Given the description of an element on the screen output the (x, y) to click on. 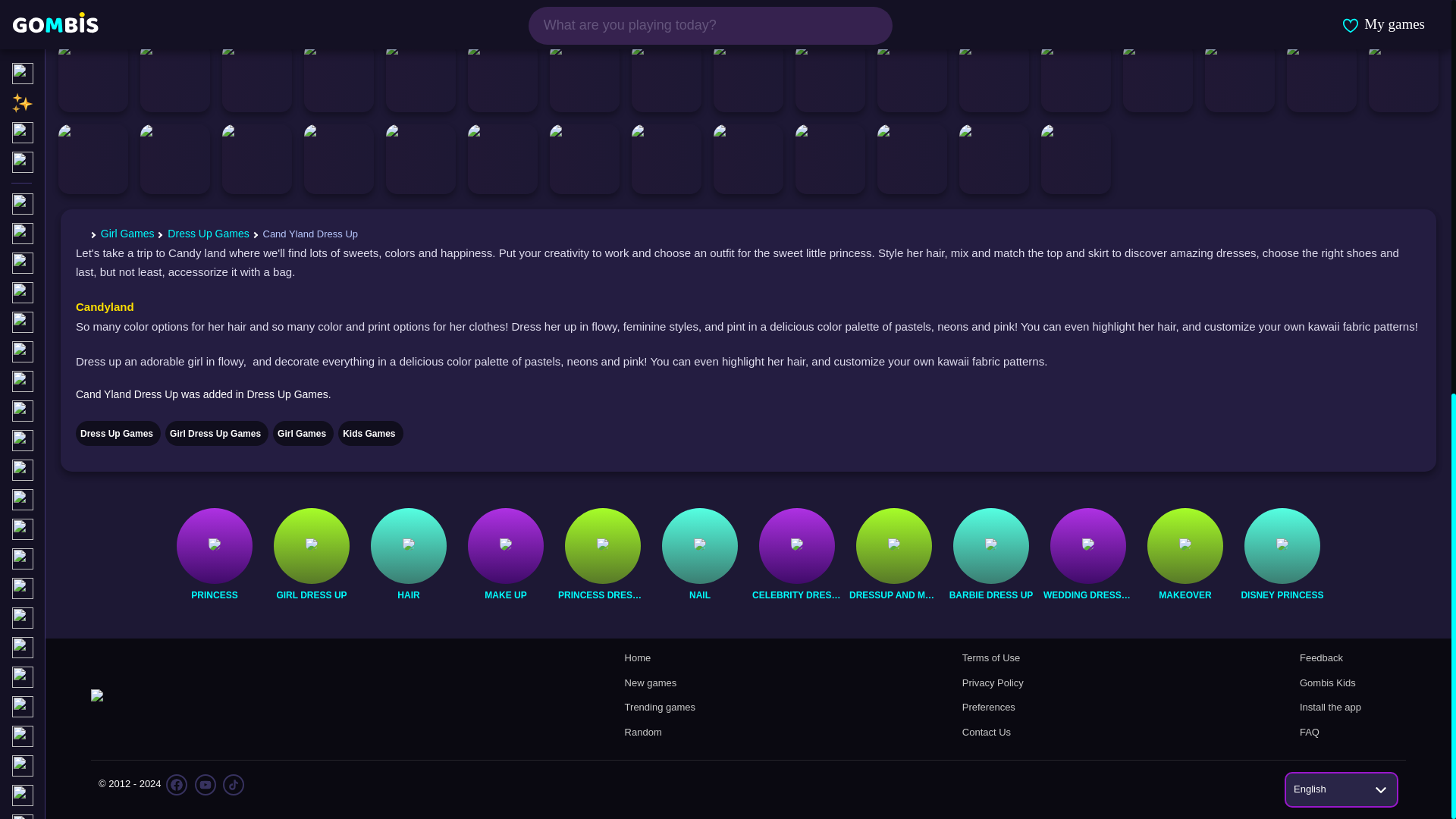
Princess Dress Up Games (602, 594)
Horror (84, 11)
Dressup and Makeup Games (893, 594)
Dressup and Makeup Games (893, 546)
Make Up Games (505, 594)
Girl Dress Up Games (311, 594)
Princess Dress Up Games (602, 546)
Hair Games (408, 594)
Board (84, 68)
Princess Games (214, 546)
Girl Dress Up Games (311, 546)
Escape (84, 38)
Celebrity Dress Up Games (796, 594)
Wedding Dress-Up Games (1087, 546)
Nail Games (700, 546)
